Given the description of an element on the screen output the (x, y) to click on. 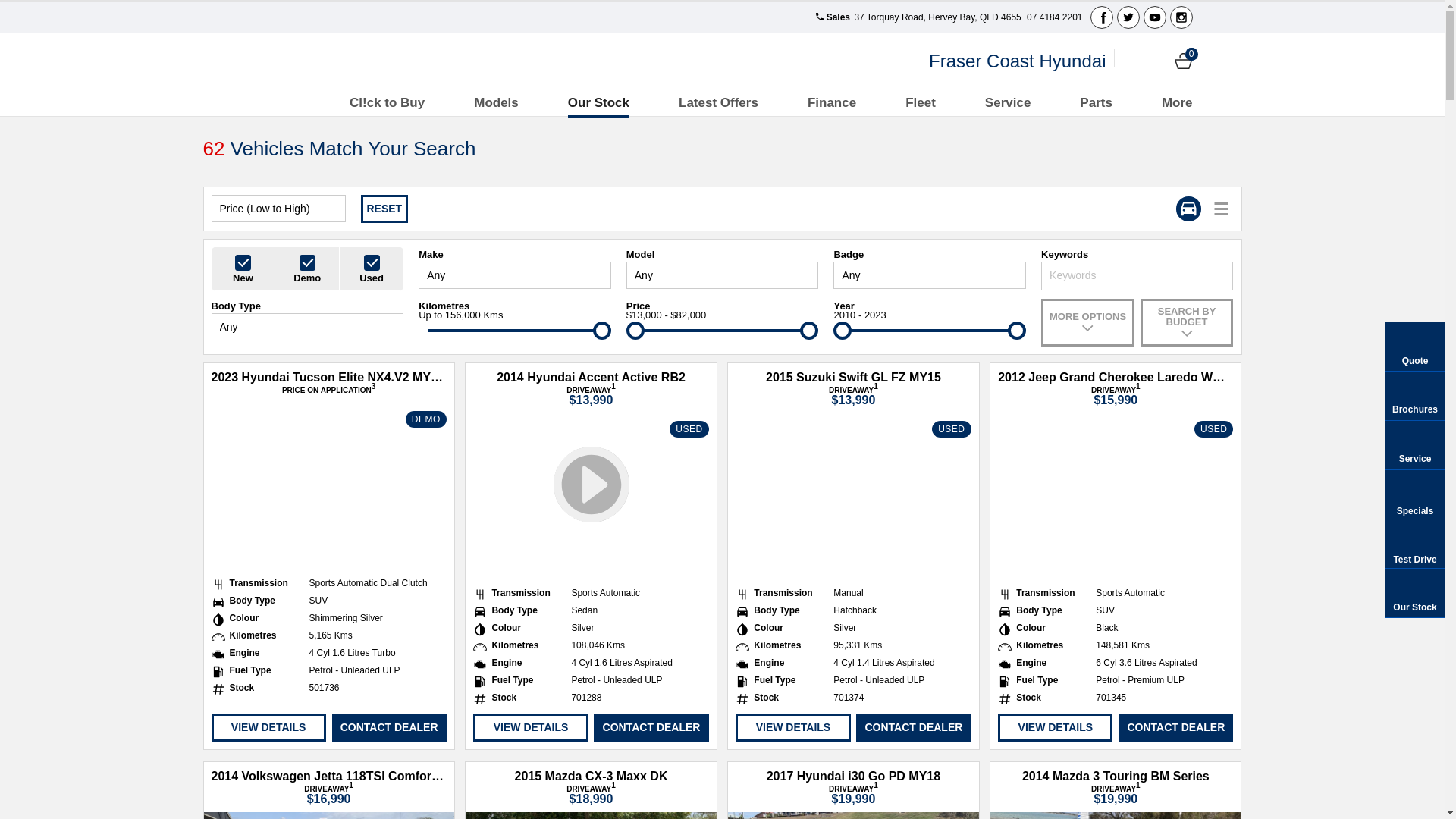
DRIVEAWAY1
$19,990 Element type: text (853, 793)
Instagram Element type: hover (1180, 17)
VIEW DETAILS Element type: text (530, 727)
DRIVEAWAY1
$19,990 Element type: text (1115, 793)
Login Element type: text (1131, 60)
DRIVEAWAY1
$16,990 Element type: text (328, 793)
CONTACT DEALER Element type: text (389, 727)
DRIVEAWAY1
$13,990 Element type: text (590, 394)
Latest Offers Element type: text (718, 102)
Our Stock Element type: text (598, 102)
Signup Element type: text (1157, 60)
Models Element type: text (495, 102)
37 Torquay Road, Hervey Bay, QLD 4655 Element type: text (936, 17)
MORE OPTIONS Element type: text (1087, 322)
SEARCH BY BUDGET Element type: text (1186, 322)
More Element type: text (1176, 102)
Facebook Element type: hover (1101, 17)
DEMO Element type: text (328, 486)
VIEW DETAILS Element type: text (1054, 727)
USED Element type: text (853, 496)
Cl!ck to Buy Element type: text (386, 102)
DRIVEAWAY1
$13,990 Element type: text (853, 394)
CONTACT DEALER Element type: text (913, 727)
CONTACT DEALER Element type: text (1175, 727)
PRICE ON APPLICATION3 Element type: text (328, 389)
YouTube Element type: hover (1154, 17)
Service Element type: text (1008, 102)
VIEW DETAILS Element type: text (267, 727)
Hyundai Motor Company Element type: text (313, 60)
VIEW DETAILS Element type: text (792, 727)
DRIVEAWAY1
$18,990 Element type: text (590, 793)
Twitter Element type: hover (1127, 17)
07 4184 2201 Element type: text (1053, 17)
Cart
0 Element type: text (1182, 61)
Parts Element type: text (1095, 102)
USED Element type: text (590, 496)
USED Element type: text (1115, 496)
Finance Element type: text (831, 102)
DRIVEAWAY1
$15,990 Element type: text (1115, 394)
RESET Element type: text (384, 208)
Fleet Element type: text (920, 102)
CONTACT DEALER Element type: text (650, 727)
